Given the description of an element on the screen output the (x, y) to click on. 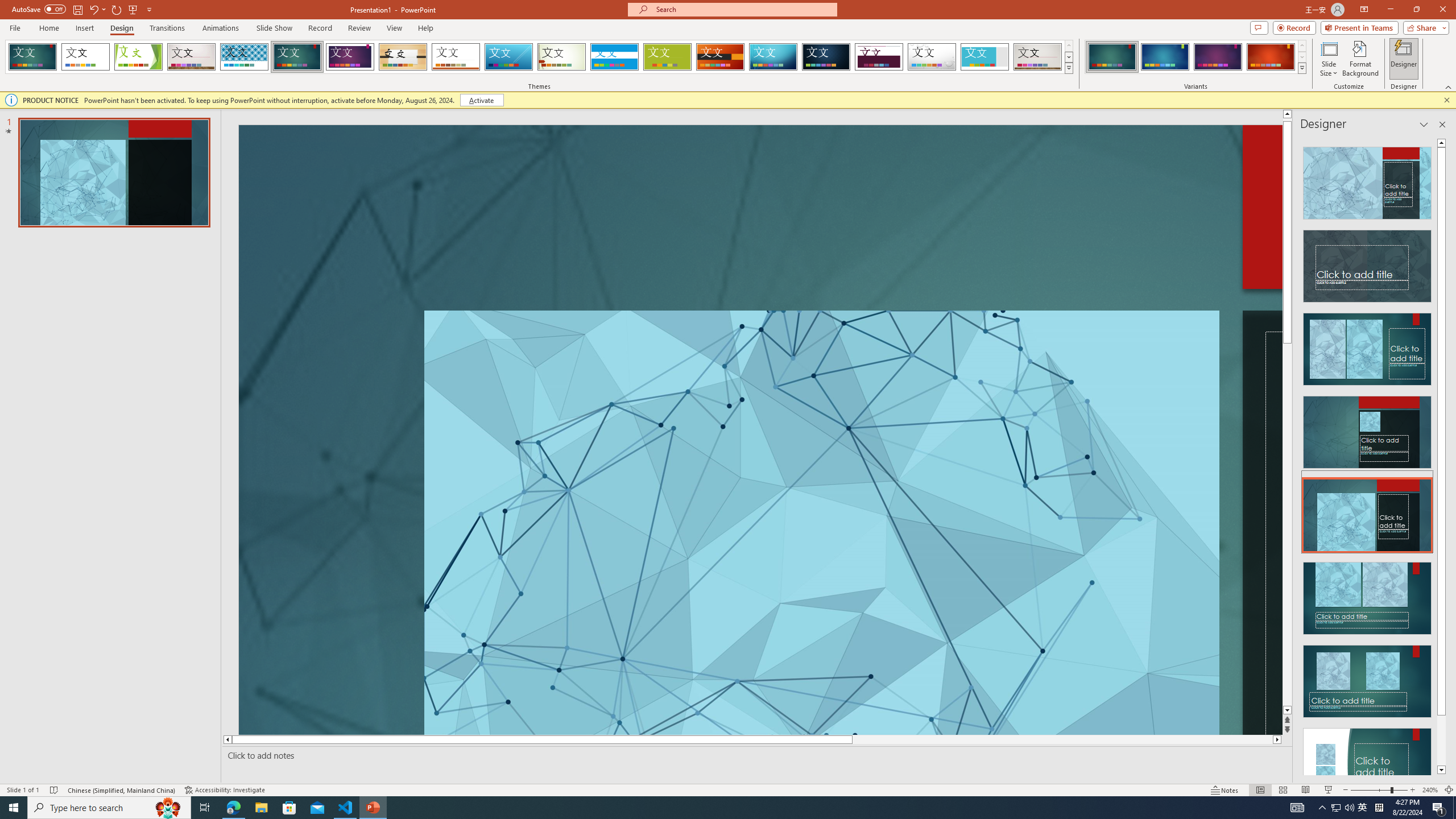
Decorative Locked (1259, 520)
Zoom 240% (1430, 790)
Slice (508, 56)
Close this message (1446, 99)
Droplet (931, 56)
